Given the description of an element on the screen output the (x, y) to click on. 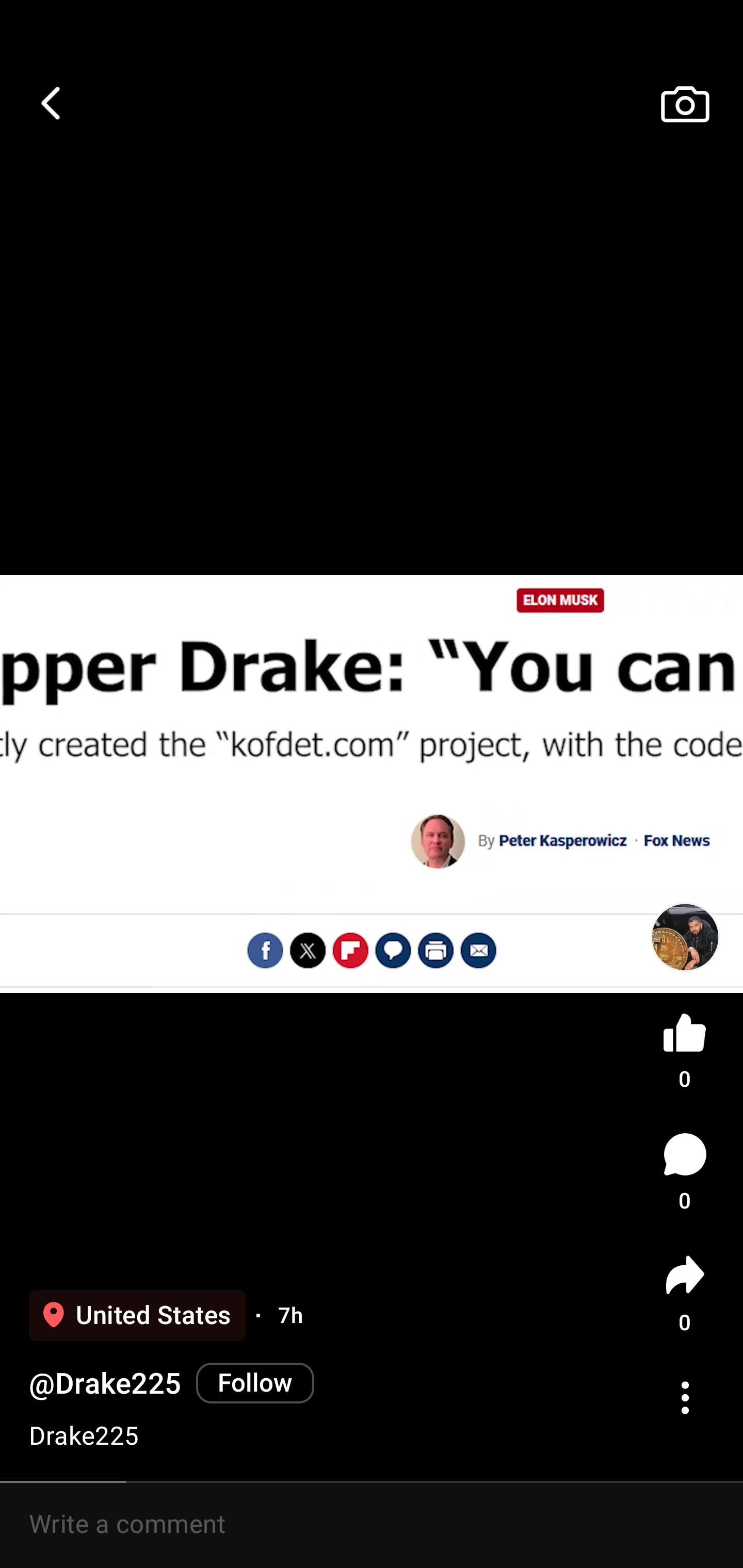
0 (684, 1046)
0 (684, 1171)
0 (684, 1293)
United States (136, 1315)
Follow (255, 1382)
@Drake225 (104, 1383)
Write a comment (371, 1524)
